Given the description of an element on the screen output the (x, y) to click on. 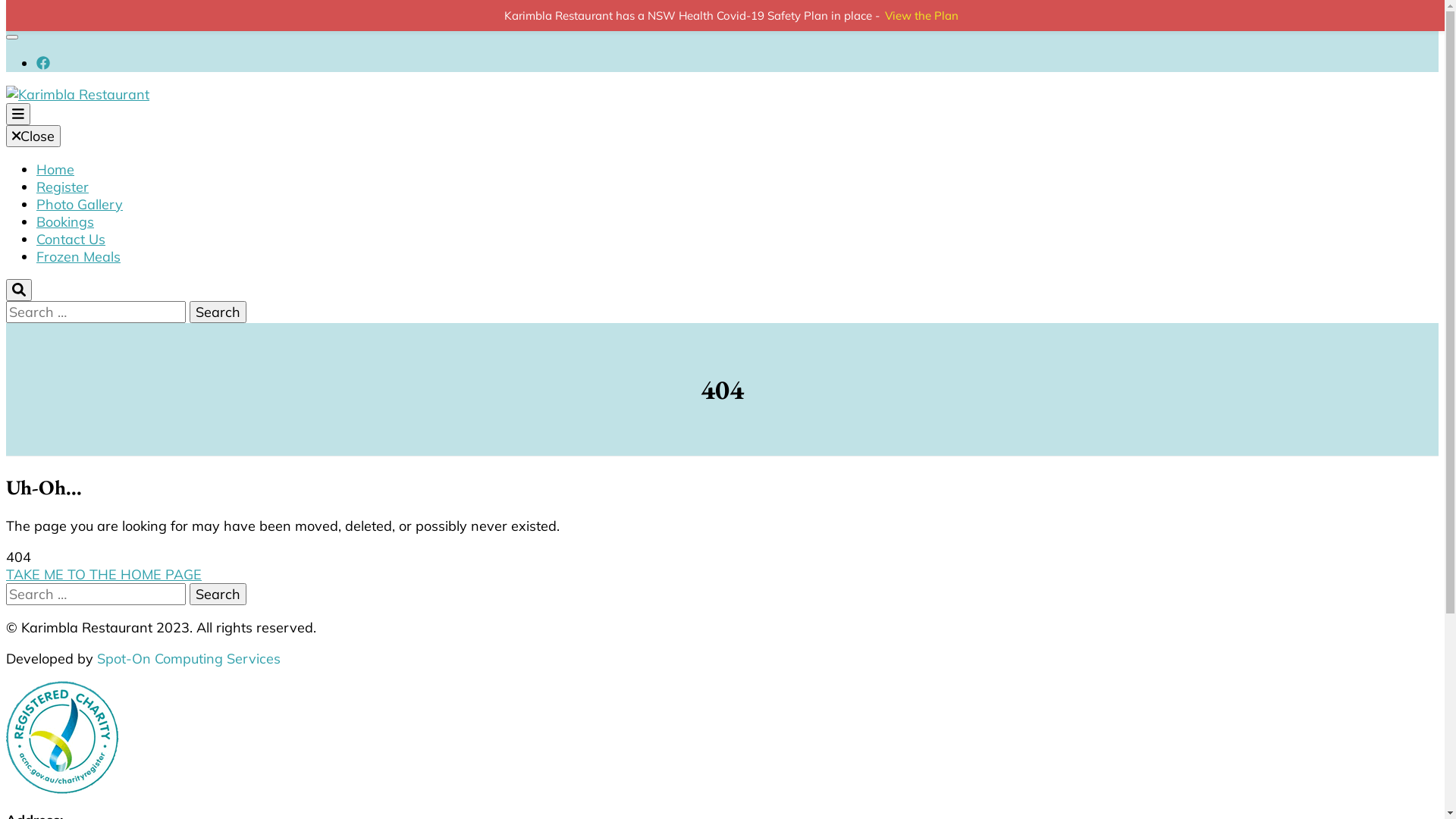
Register Element type: text (62, 186)
Search Element type: text (217, 594)
Search Element type: text (217, 312)
Photo Gallery Element type: text (79, 204)
Spot-On Computing Services Element type: text (188, 658)
Home Element type: text (55, 169)
View the Plan Element type: text (921, 15)
Frozen Meals Element type: text (78, 256)
Skip to Content Element type: text (53, 14)
TAKE ME TO THE HOME PAGE Element type: text (103, 574)
Karimbla Restaurant Element type: text (224, 178)
Contact Us Element type: text (70, 238)
Close Element type: text (33, 136)
Bookings Element type: text (65, 221)
